Given the description of an element on the screen output the (x, y) to click on. 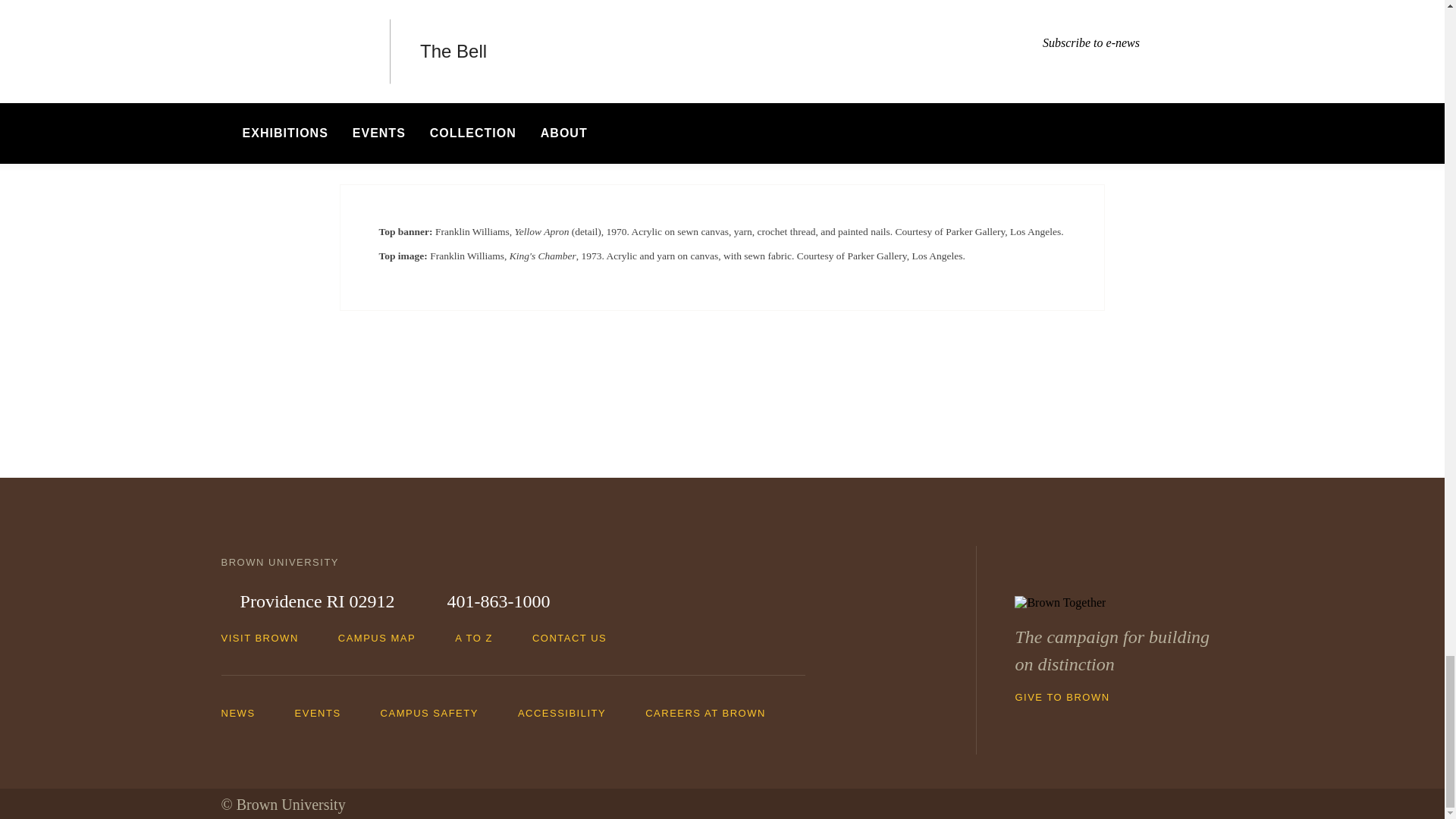
INSTAGRAM (801, 38)
CAMPUS MAP (383, 637)
Providence RI 02912 (307, 601)
VISIT BROWN (267, 637)
A TO Z (481, 637)
NEWS (245, 712)
401-863-1000 (489, 601)
CAMPUS SAFETY (436, 712)
FACEBOOK (642, 38)
EVENTS (325, 712)
